Given the description of an element on the screen output the (x, y) to click on. 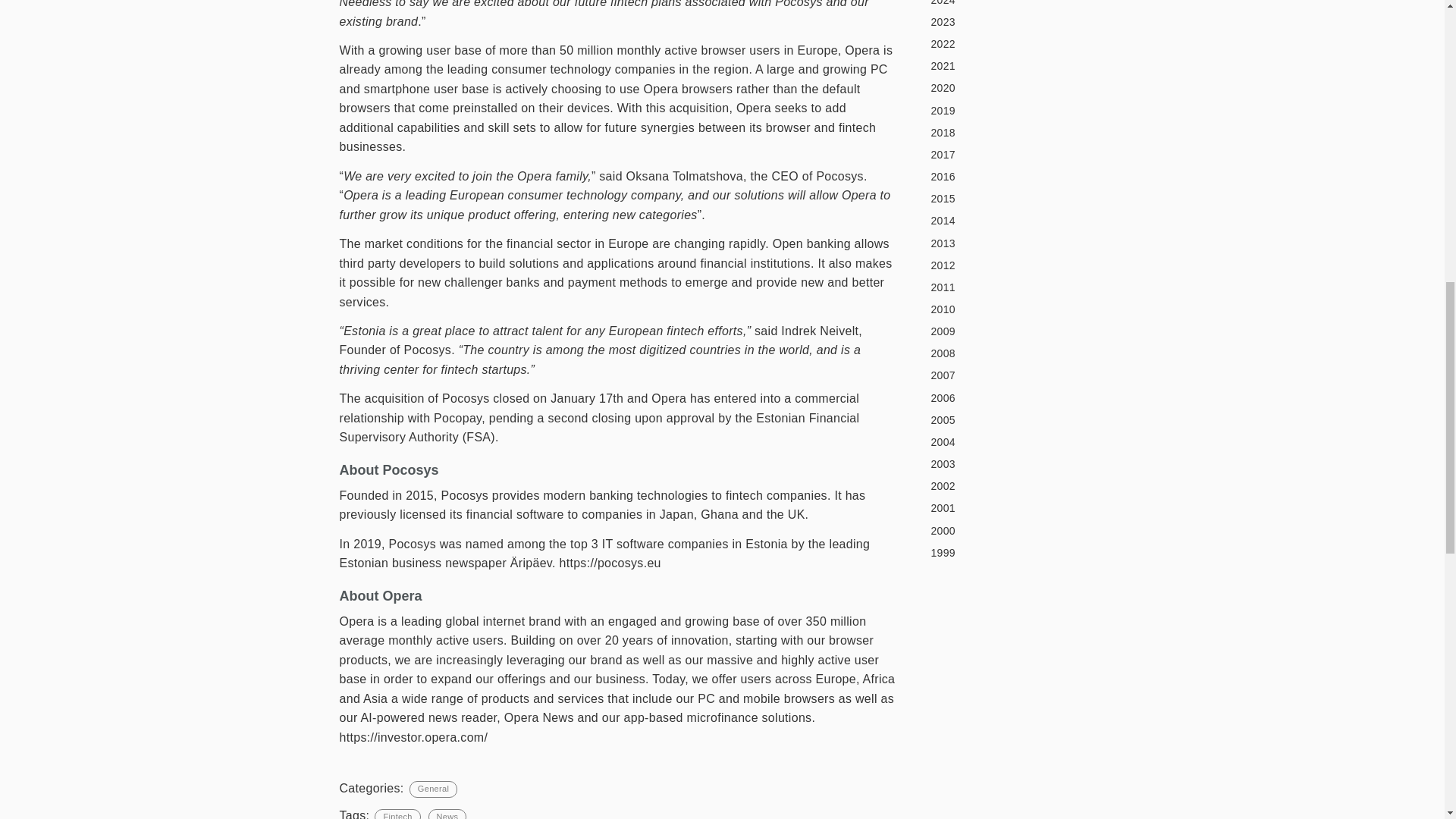
2017 (1014, 155)
Fintech (397, 814)
General (433, 788)
2020 (1014, 88)
2022 (1014, 45)
2023 (1014, 22)
2024 (1014, 4)
2018 (1014, 132)
News (447, 814)
2021 (1014, 66)
2019 (1014, 110)
